Given the description of an element on the screen output the (x, y) to click on. 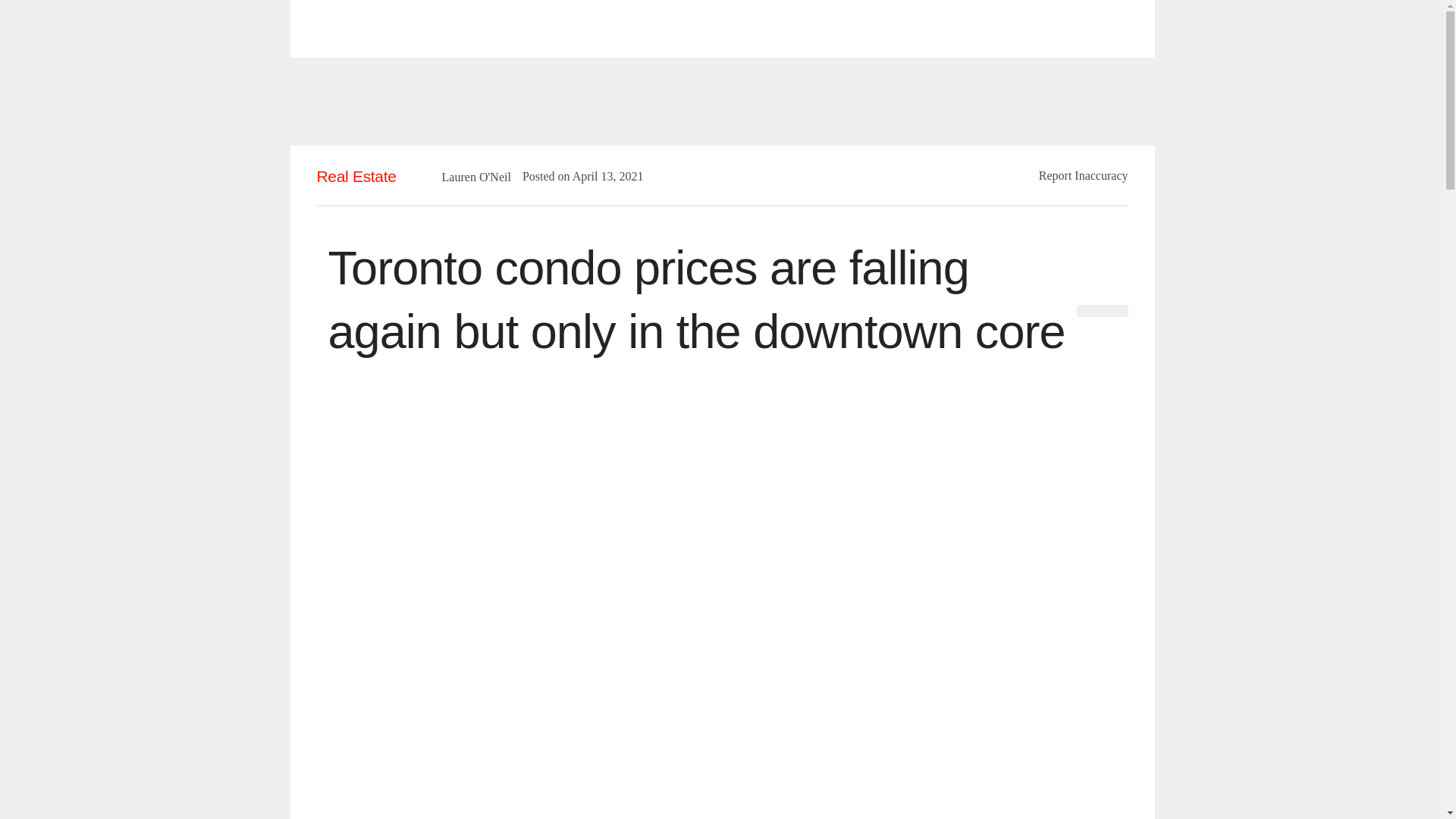
Real Estate (356, 175)
Report Inaccuracy (1083, 174)
2021-04-13T10:45:03 (600, 175)
